Given the description of an element on the screen output the (x, y) to click on. 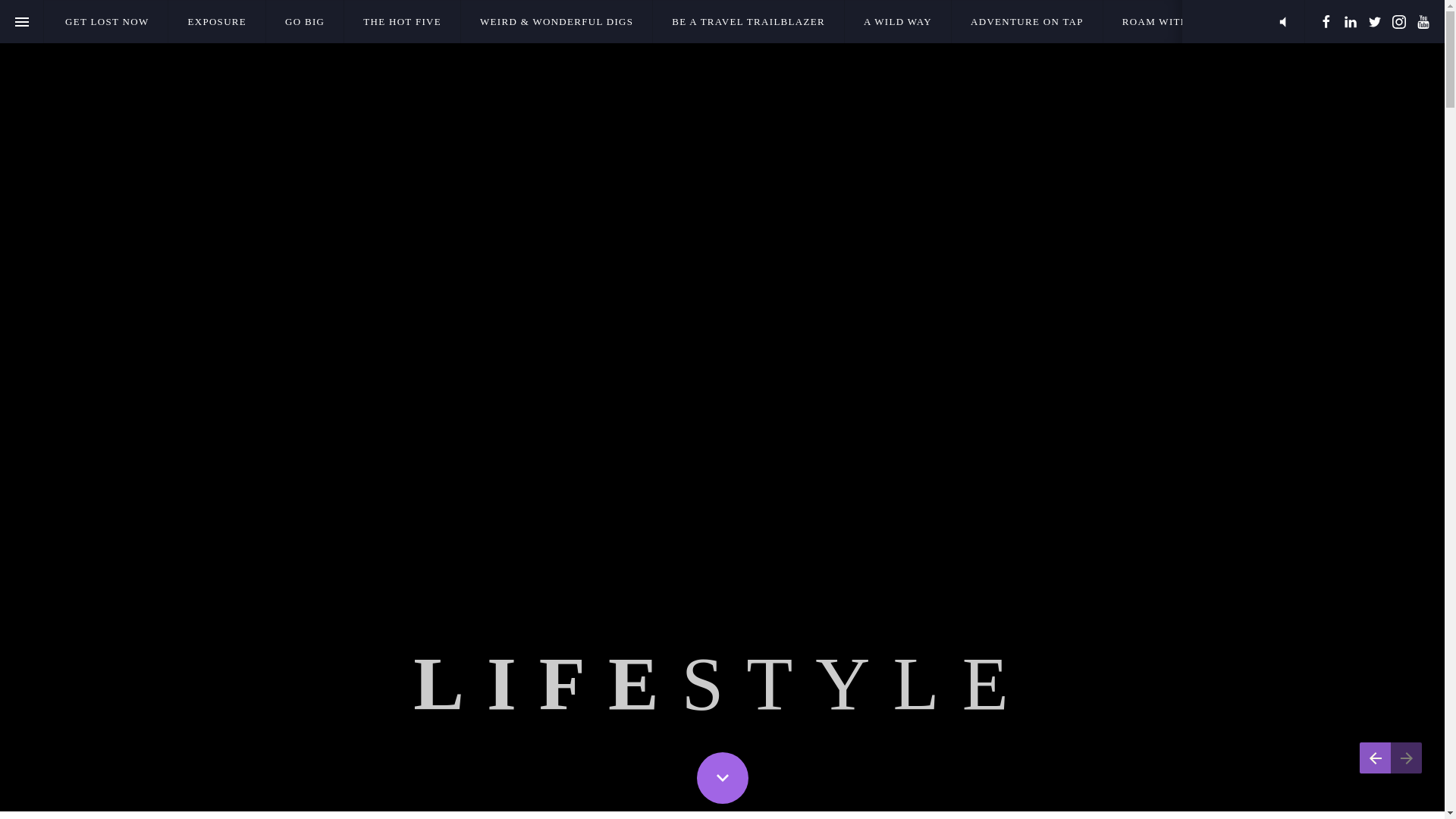
EXPOSURE (216, 21)
BE A TRAVEL TRAILBLAZER (748, 21)
ROAM WITH CONFIDENCE (1193, 21)
Twitter (1375, 20)
GO BIG (304, 21)
THE HIGH LIFE (1344, 21)
GET LOST NOW (106, 21)
THE HOT FIVE (401, 21)
A WILD WAY (897, 21)
ADVENTURE ON TAP (1027, 21)
